Given the description of an element on the screen output the (x, y) to click on. 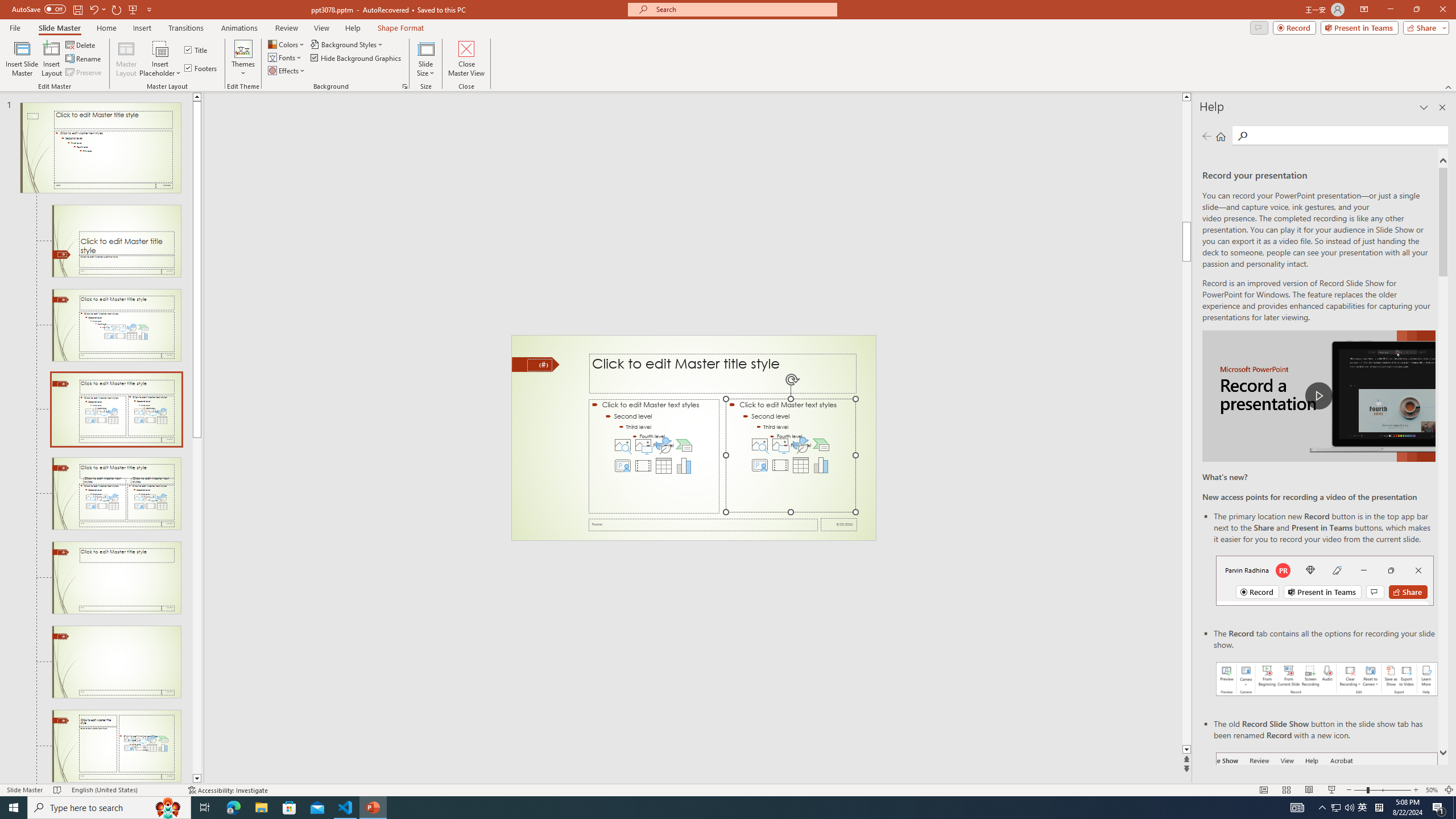
Insert a SmartArt Graphic (820, 444)
Fonts (285, 56)
Effects (287, 69)
Insert Video (780, 465)
Pictures (780, 444)
Zoom 50% (1431, 790)
Record button in top bar (1324, 580)
Content Placeholder (791, 455)
Slide Number (539, 364)
Slide Comparison Layout: used by no slides (116, 577)
